Given the description of an element on the screen output the (x, y) to click on. 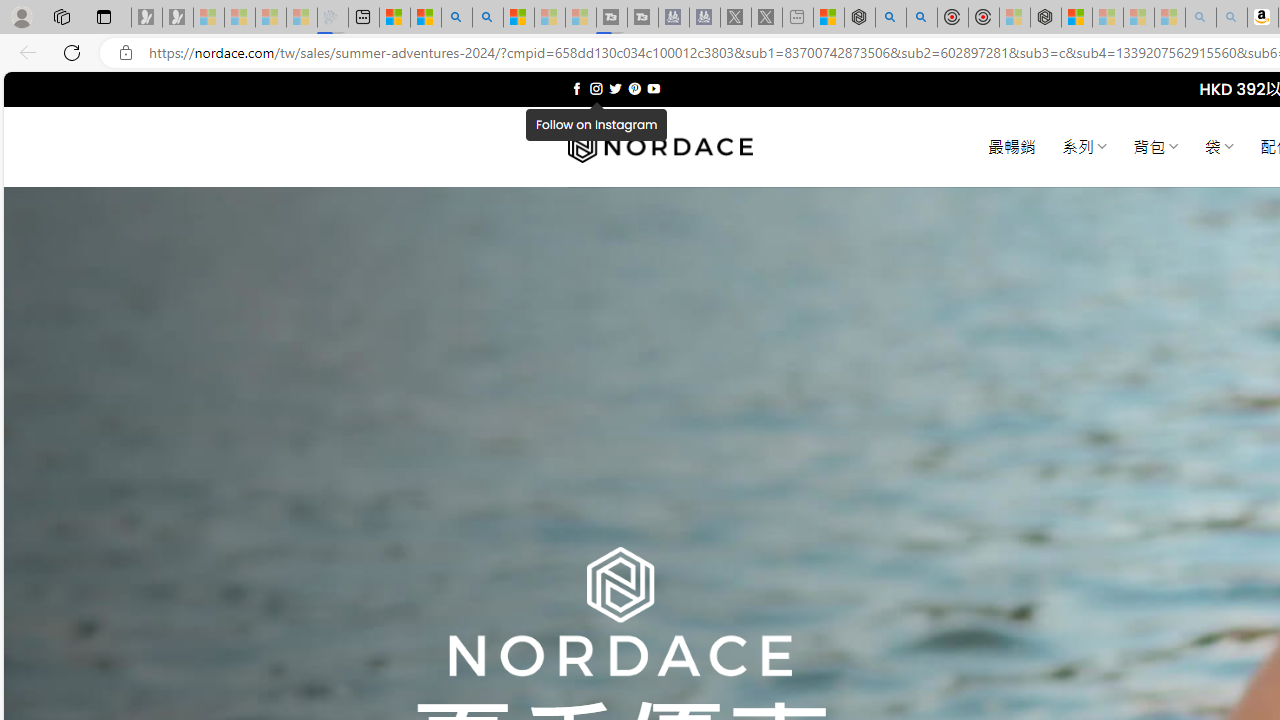
poe ++ standard - Search (921, 17)
Follow on Twitter (615, 88)
Nordace - Nordace Siena Is Not An Ordinary Backpack (1045, 17)
Tab actions menu (104, 16)
Nordace (659, 147)
amazon - Search - Sleeping (1200, 17)
Workspaces (61, 16)
Microsoft Start - Sleeping (549, 17)
